Given the description of an element on the screen output the (x, y) to click on. 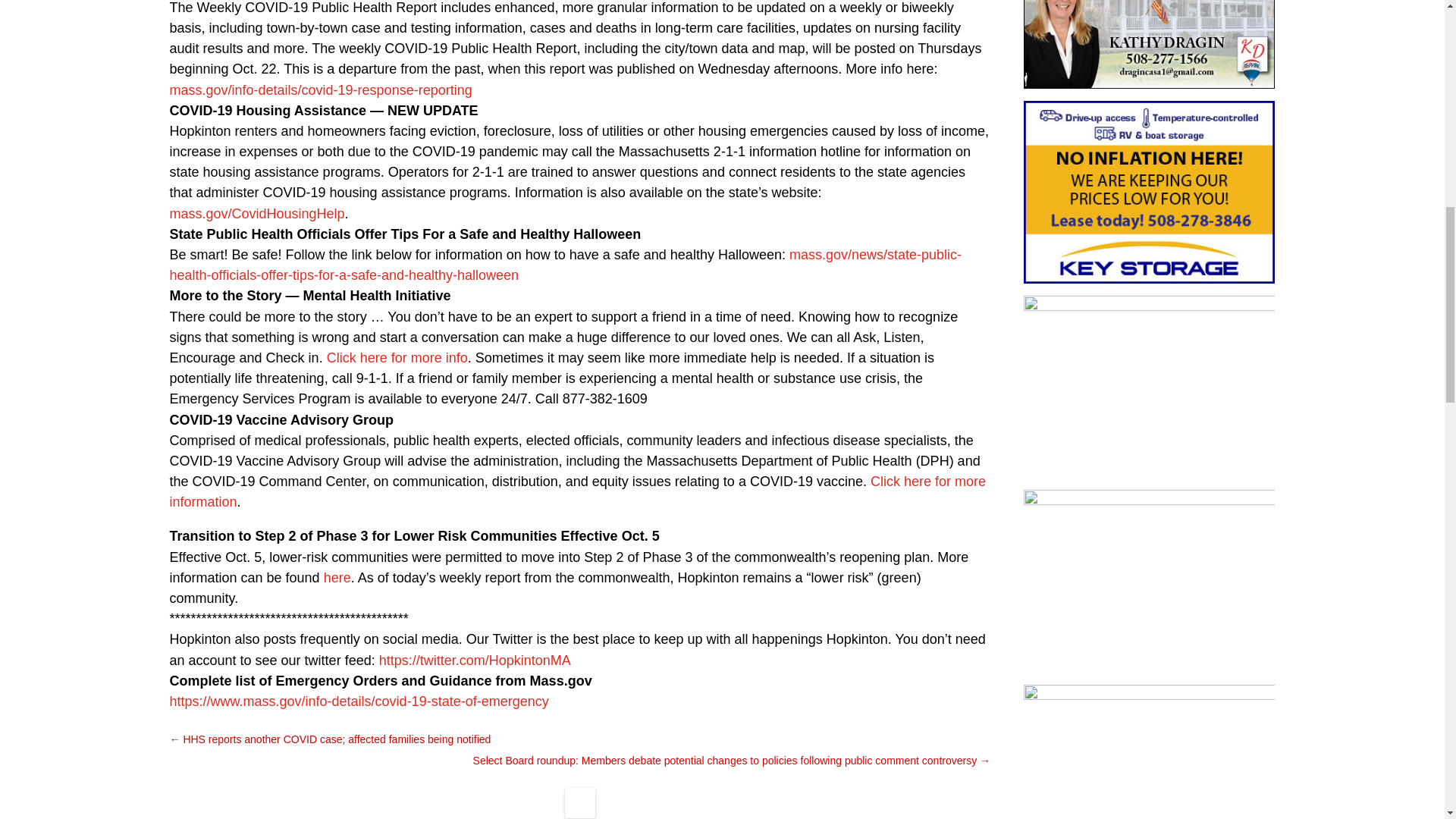
here (336, 577)
Page 1 (580, 358)
Page 2 (580, 295)
Click here for more information (578, 491)
Page 1 (580, 162)
Click here for more info (396, 357)
Page 1 (580, 255)
